Given the description of an element on the screen output the (x, y) to click on. 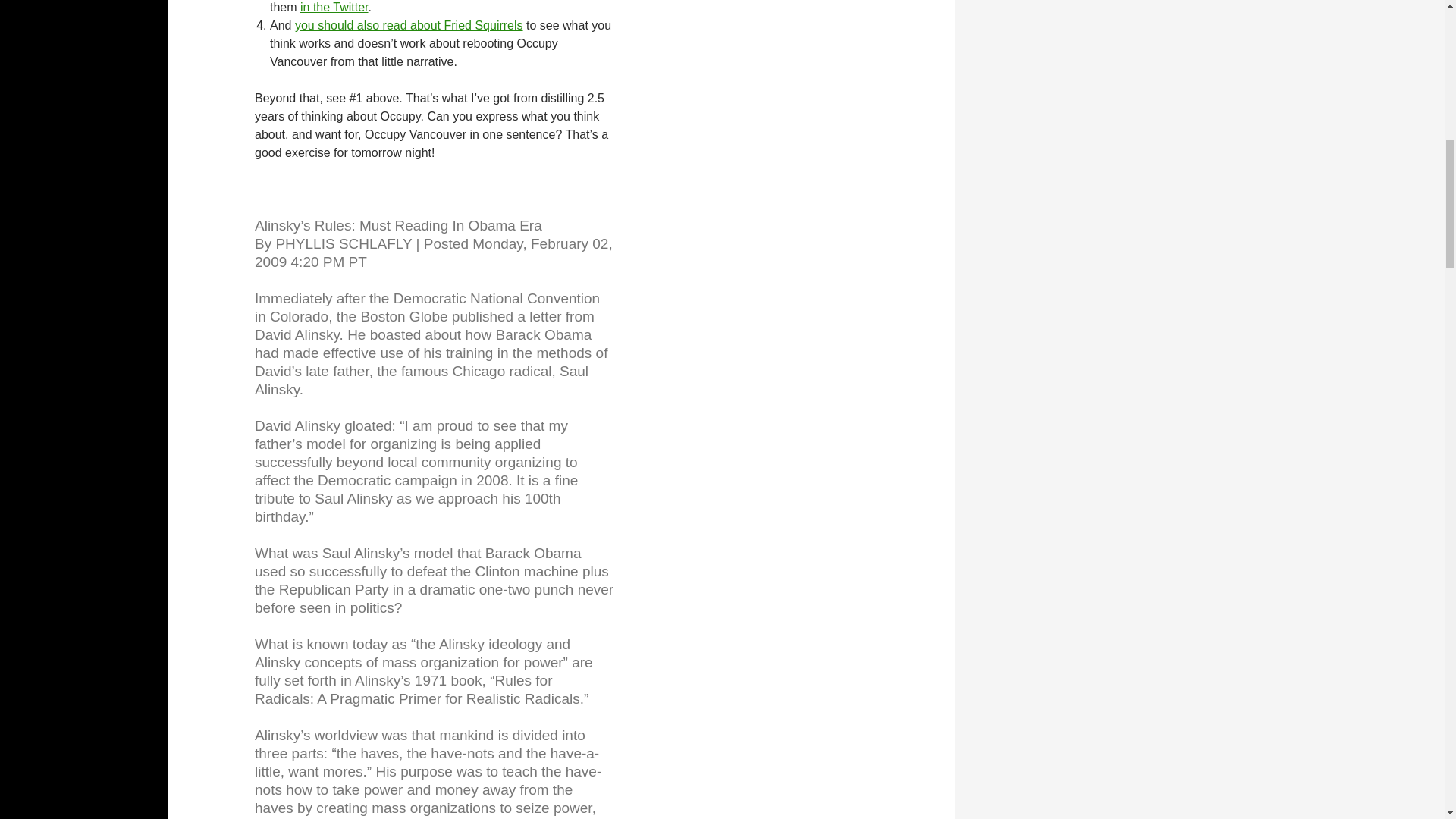
in the Twitter (333, 6)
you should also read about Fried Squirrels (408, 24)
